Given the description of an element on the screen output the (x, y) to click on. 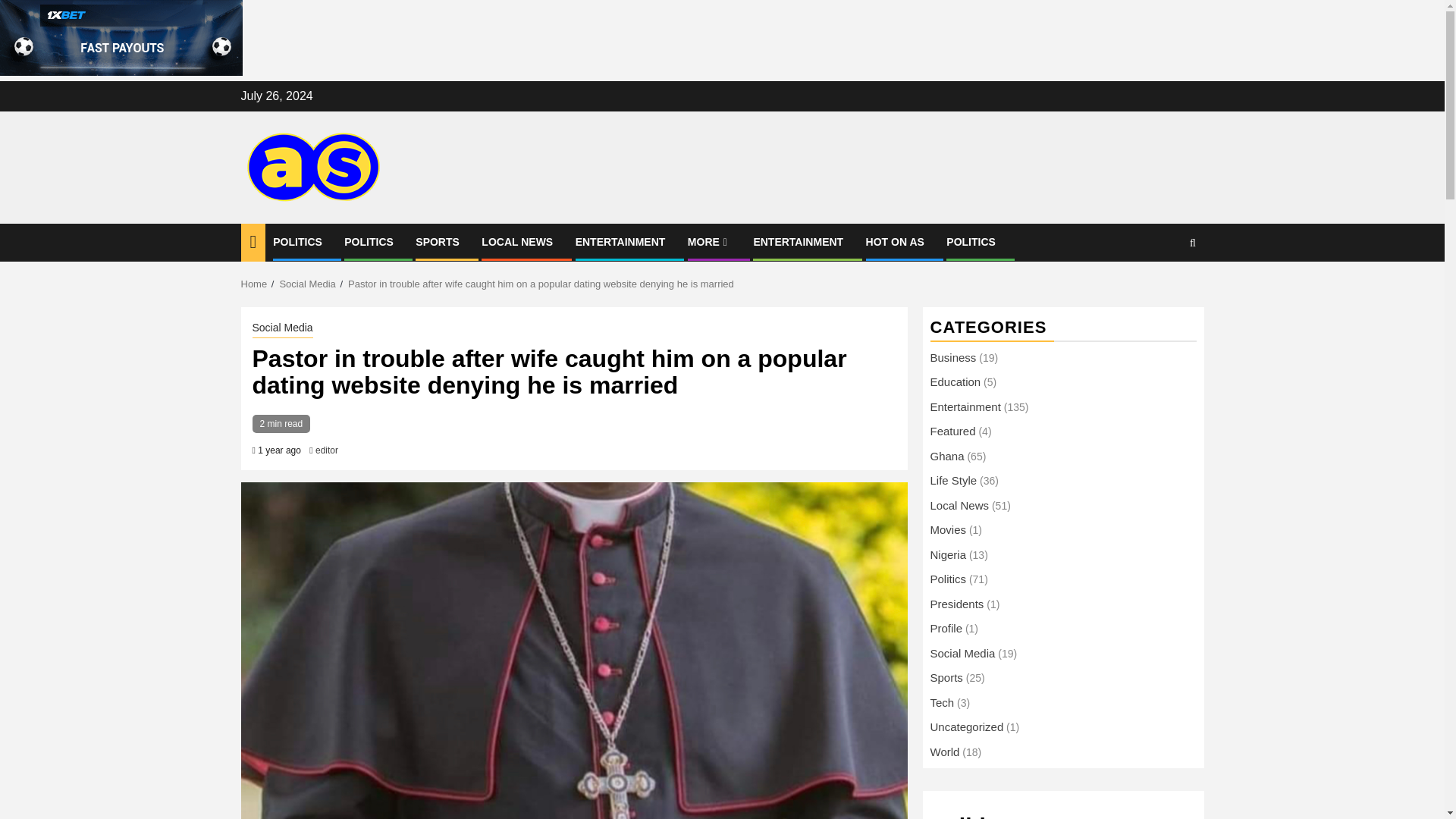
LOCAL NEWS (517, 241)
SPORTS (437, 241)
POLITICS (368, 241)
editor (326, 450)
HOT ON AS (895, 241)
Social Media (282, 329)
ENTERTAINMENT (797, 241)
Search (1163, 288)
POLITICS (297, 241)
Social Media (306, 283)
Home (254, 283)
POLITICS (970, 241)
ENTERTAINMENT (620, 241)
MORE (708, 241)
